Given the description of an element on the screen output the (x, y) to click on. 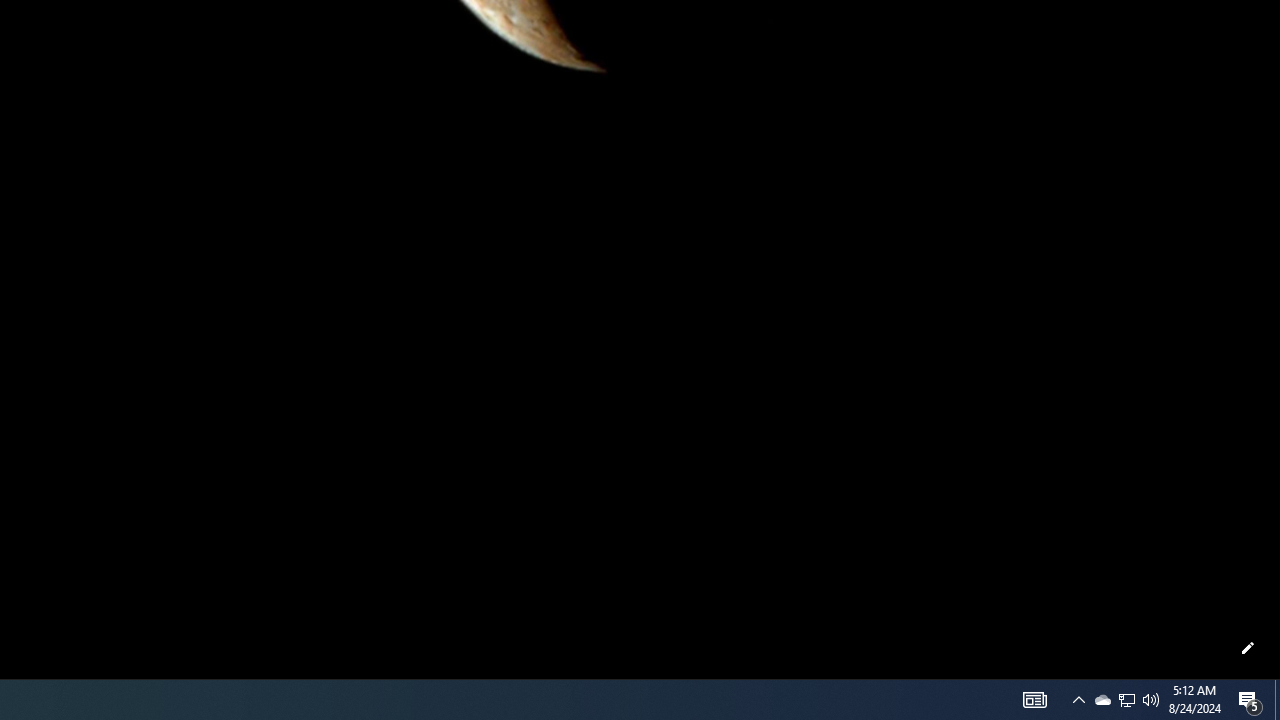
Customize this page (1247, 647)
